Given the description of an element on the screen output the (x, y) to click on. 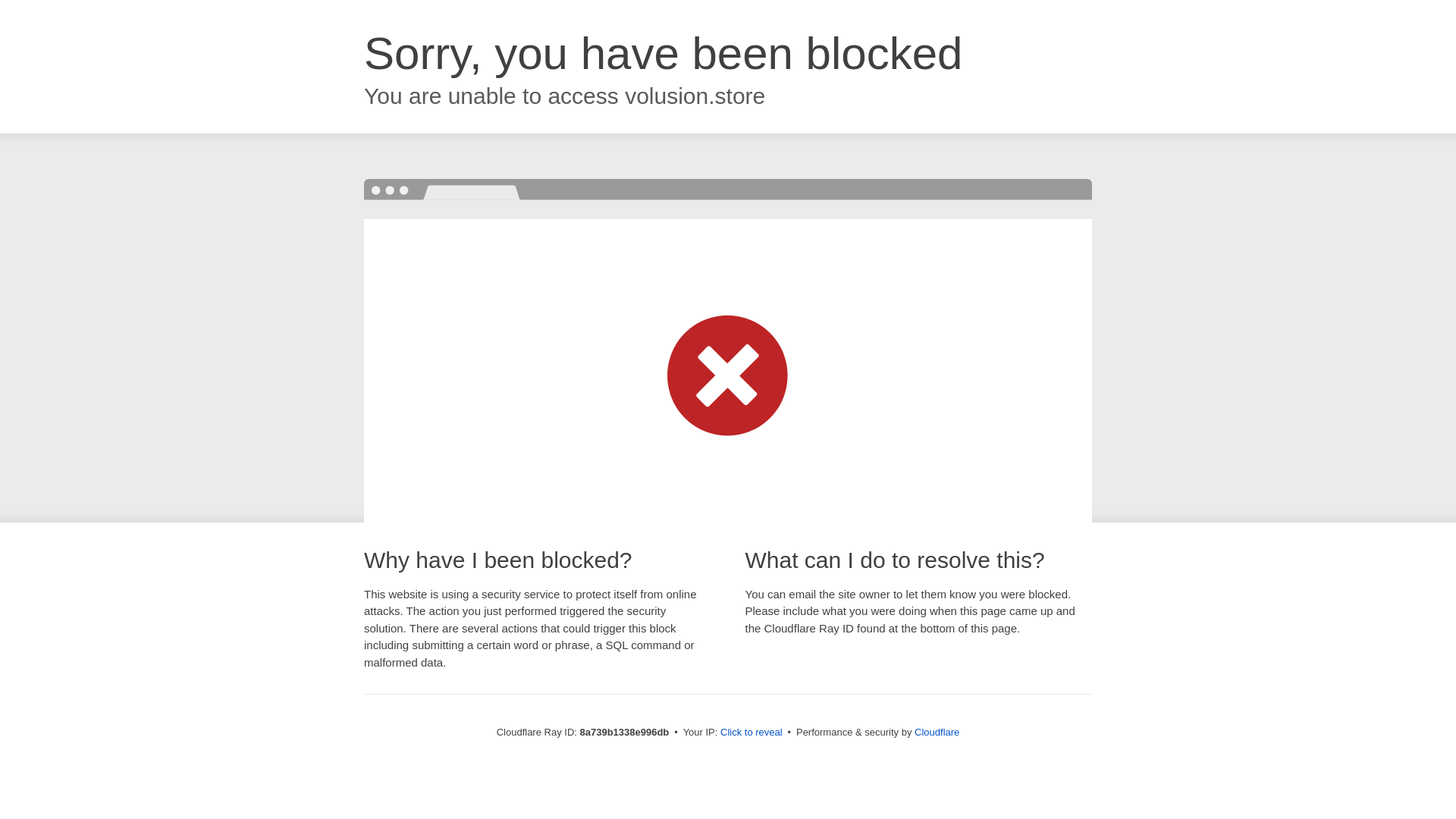
Click to reveal (751, 732)
Cloudflare (936, 731)
